Given the description of an element on the screen output the (x, y) to click on. 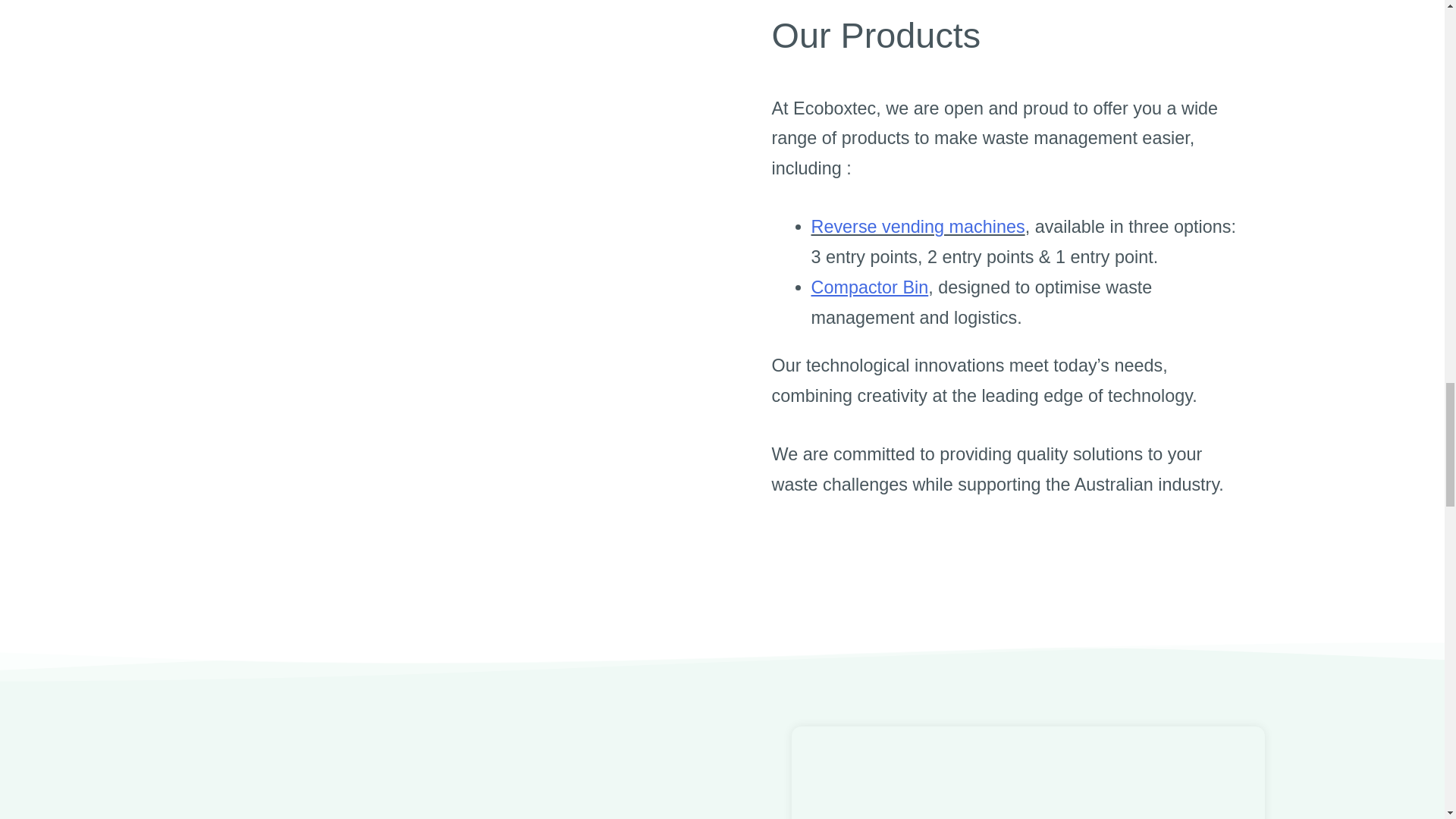
Learn more (429, 455)
